Given the description of an element on the screen output the (x, y) to click on. 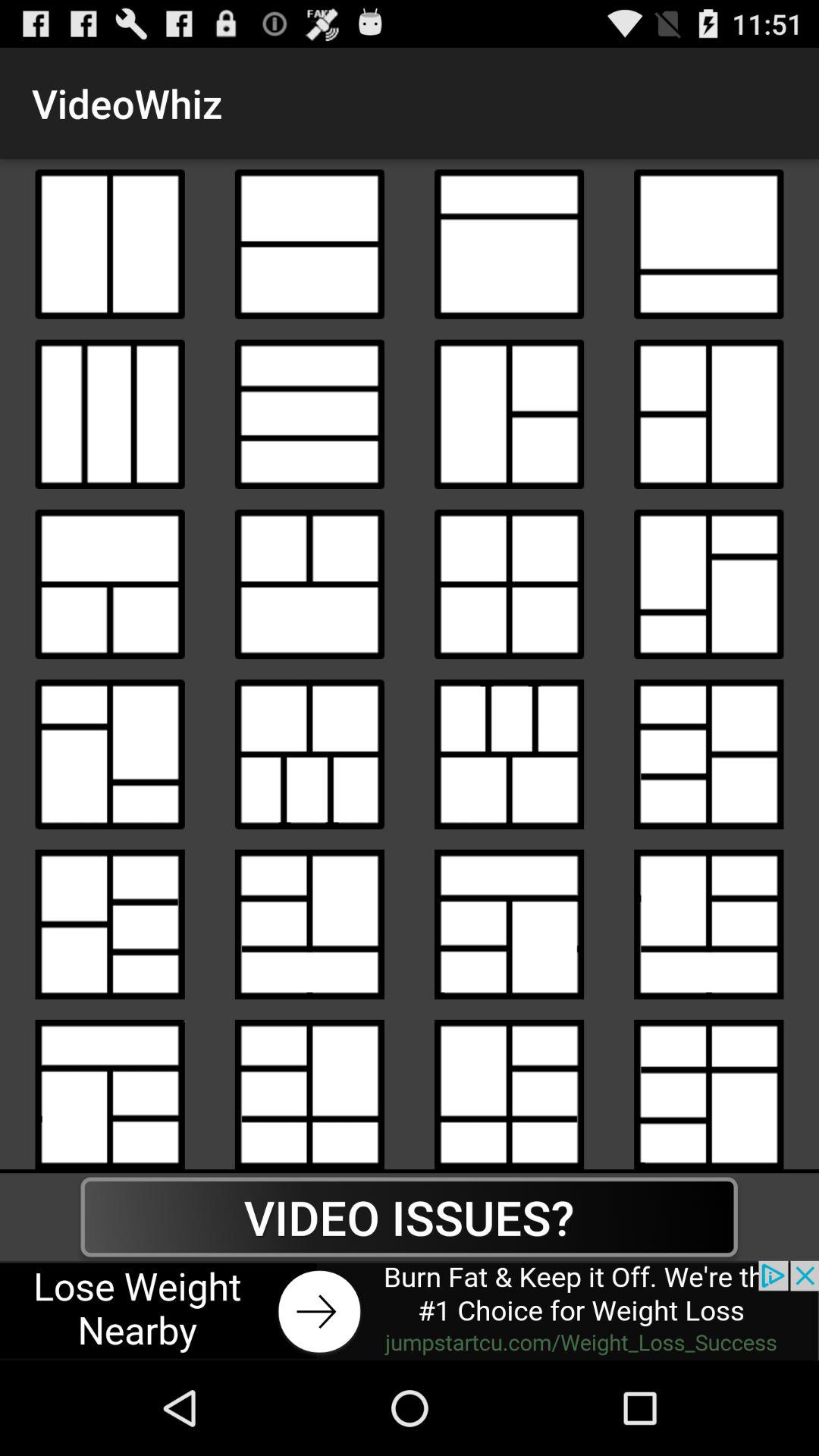
go to other website for losing weight (409, 1310)
